Given the description of an element on the screen output the (x, y) to click on. 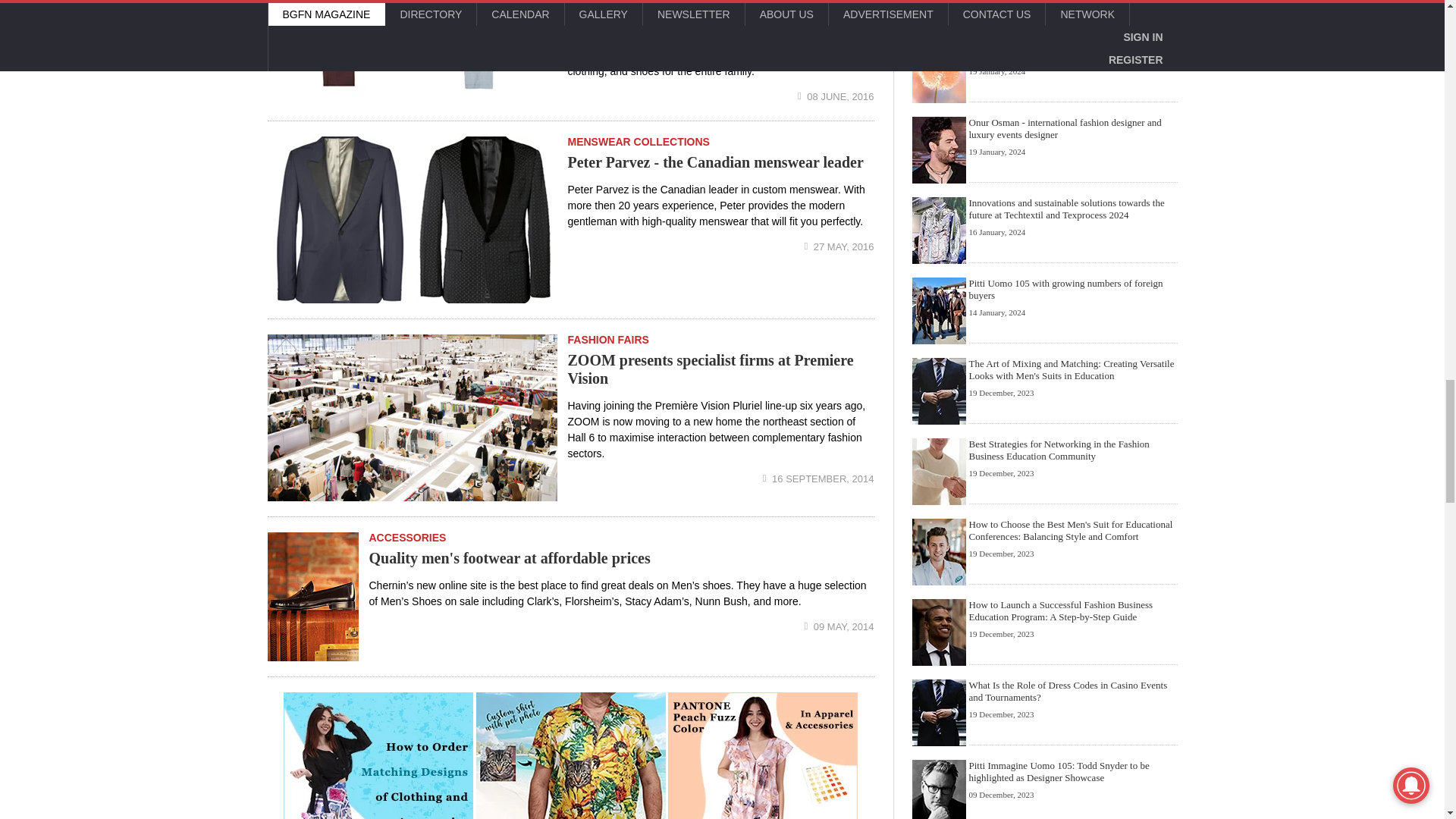
How to Use the Pantone Color of the Year 2024 (762, 755)
Is it Trending to Put Your Cat's Face on a Dress or Shirt? (570, 755)
